Given the description of an element on the screen output the (x, y) to click on. 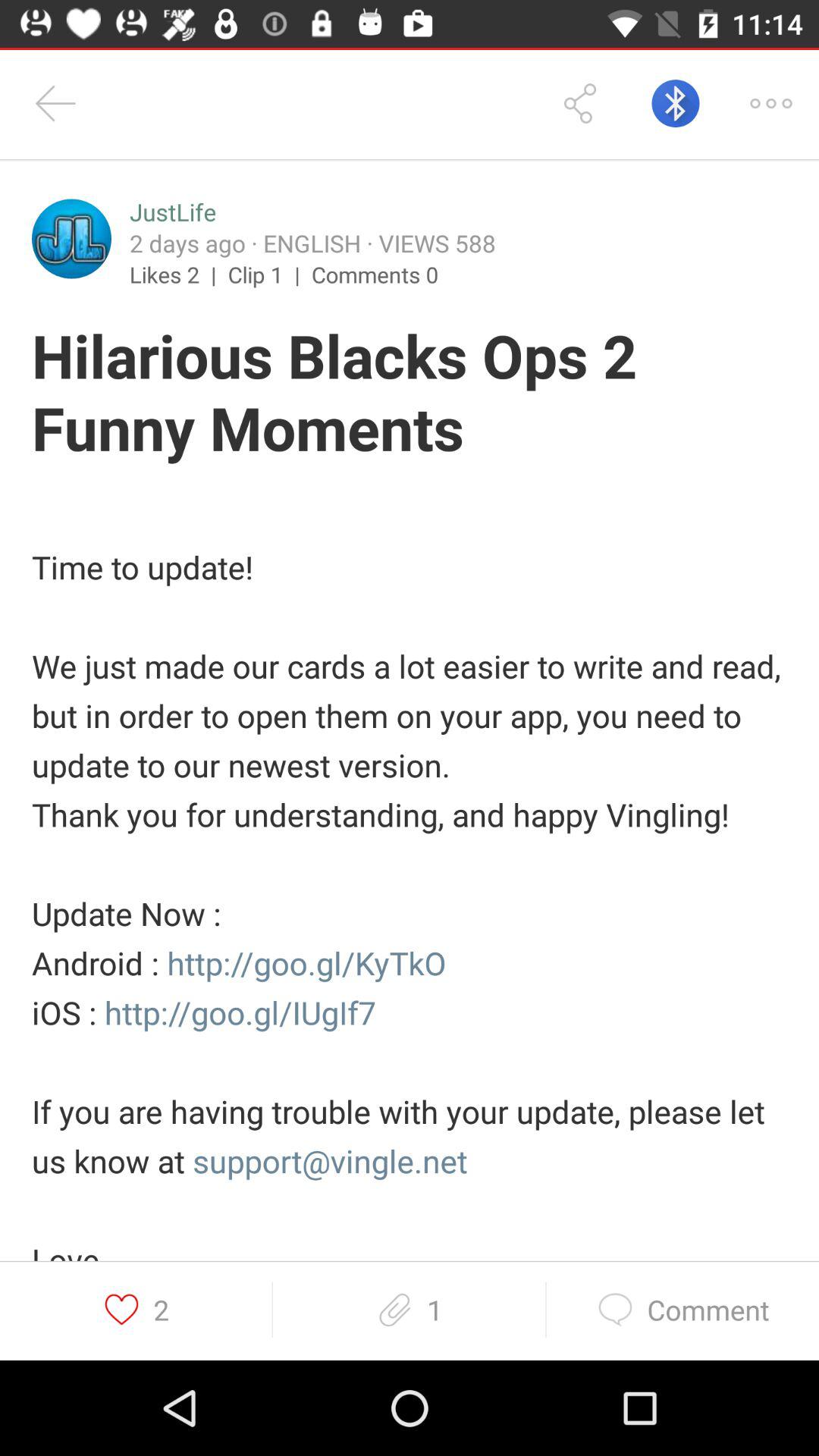
jump to clip 1  |   icon (269, 274)
